Given the description of an element on the screen output the (x, y) to click on. 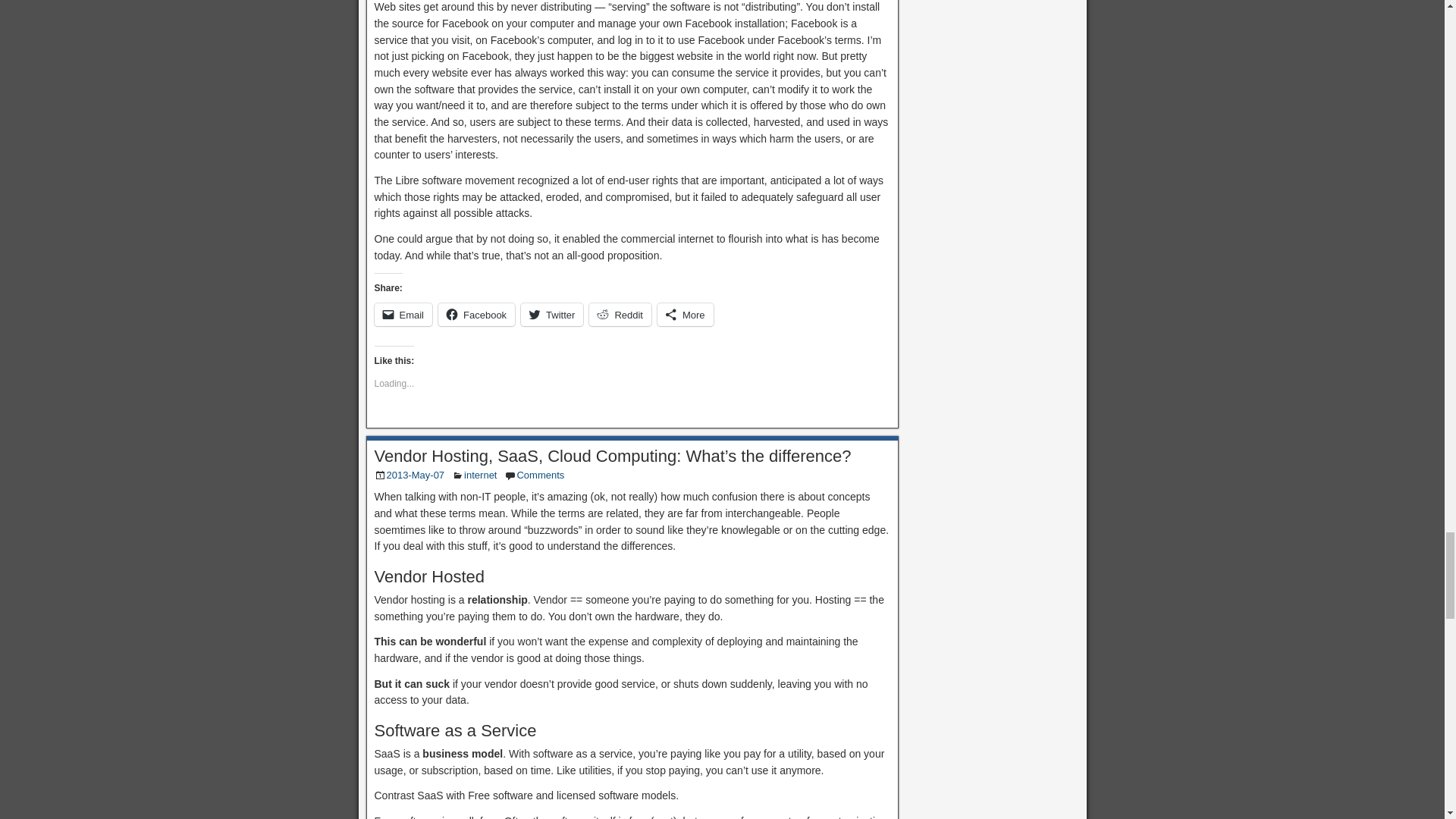
Click to email a link to a friend (403, 314)
Click to share on Facebook (476, 314)
Click to share on Twitter (552, 314)
Click to share on Reddit (619, 314)
